Given the description of an element on the screen output the (x, y) to click on. 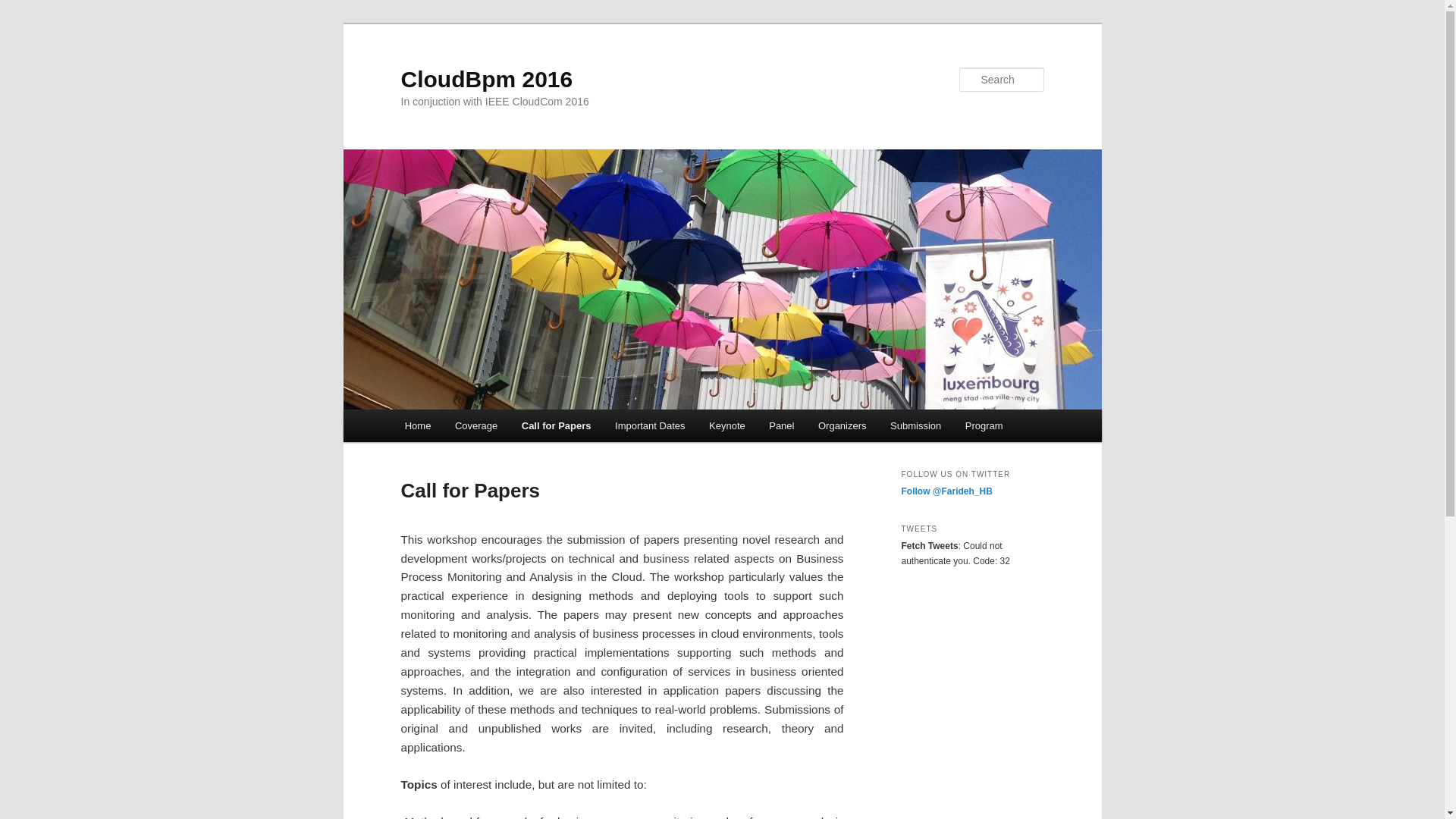
Program (983, 425)
Call for Papers (555, 425)
Coverage (475, 425)
Keynote (727, 425)
CloudBpm 2016 (486, 78)
Search (24, 8)
Submission (915, 425)
Home (417, 425)
Panel (781, 425)
